Given the description of an element on the screen output the (x, y) to click on. 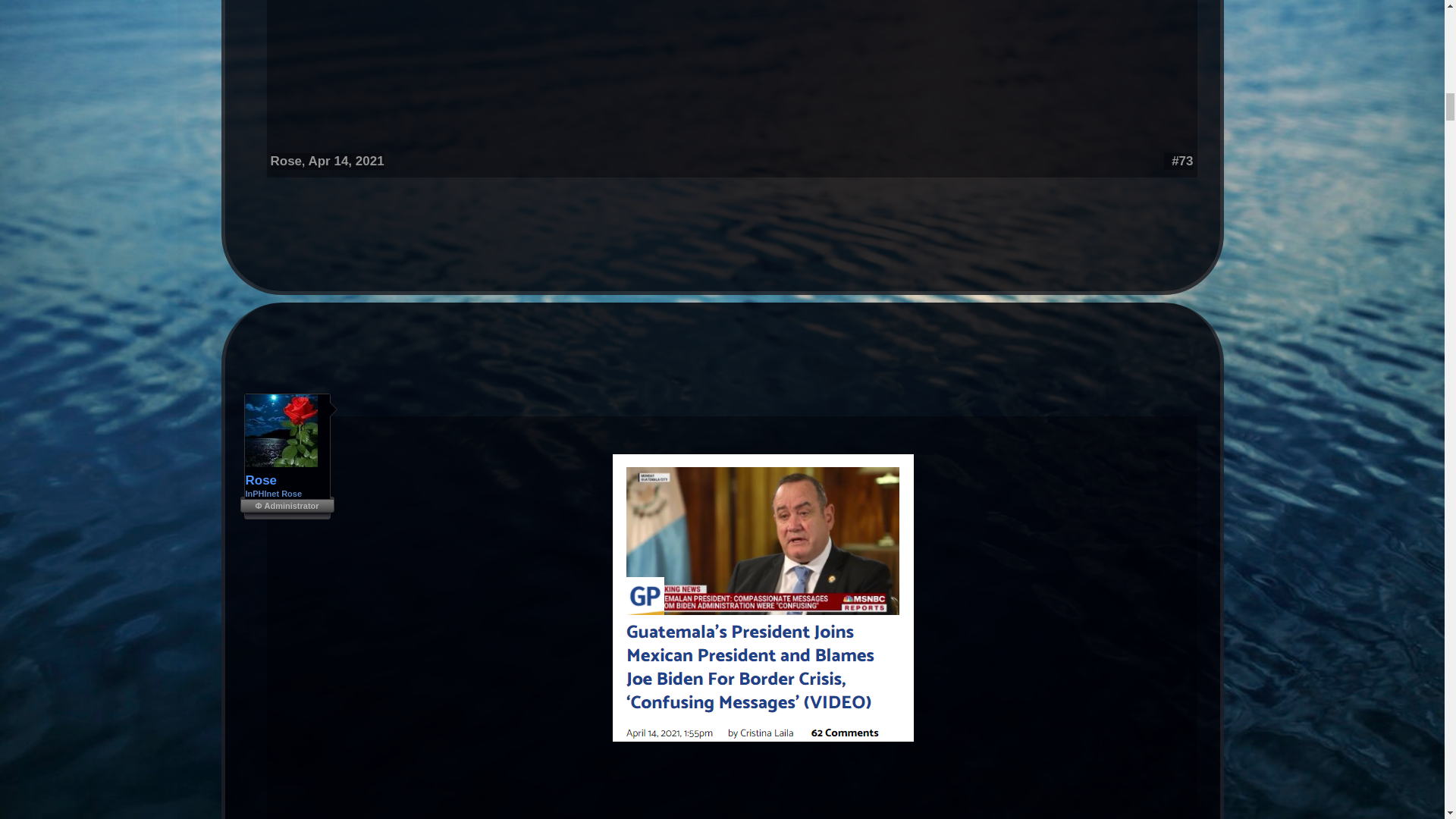
Permalink (345, 160)
Permalink (1182, 161)
